Given the description of an element on the screen output the (x, y) to click on. 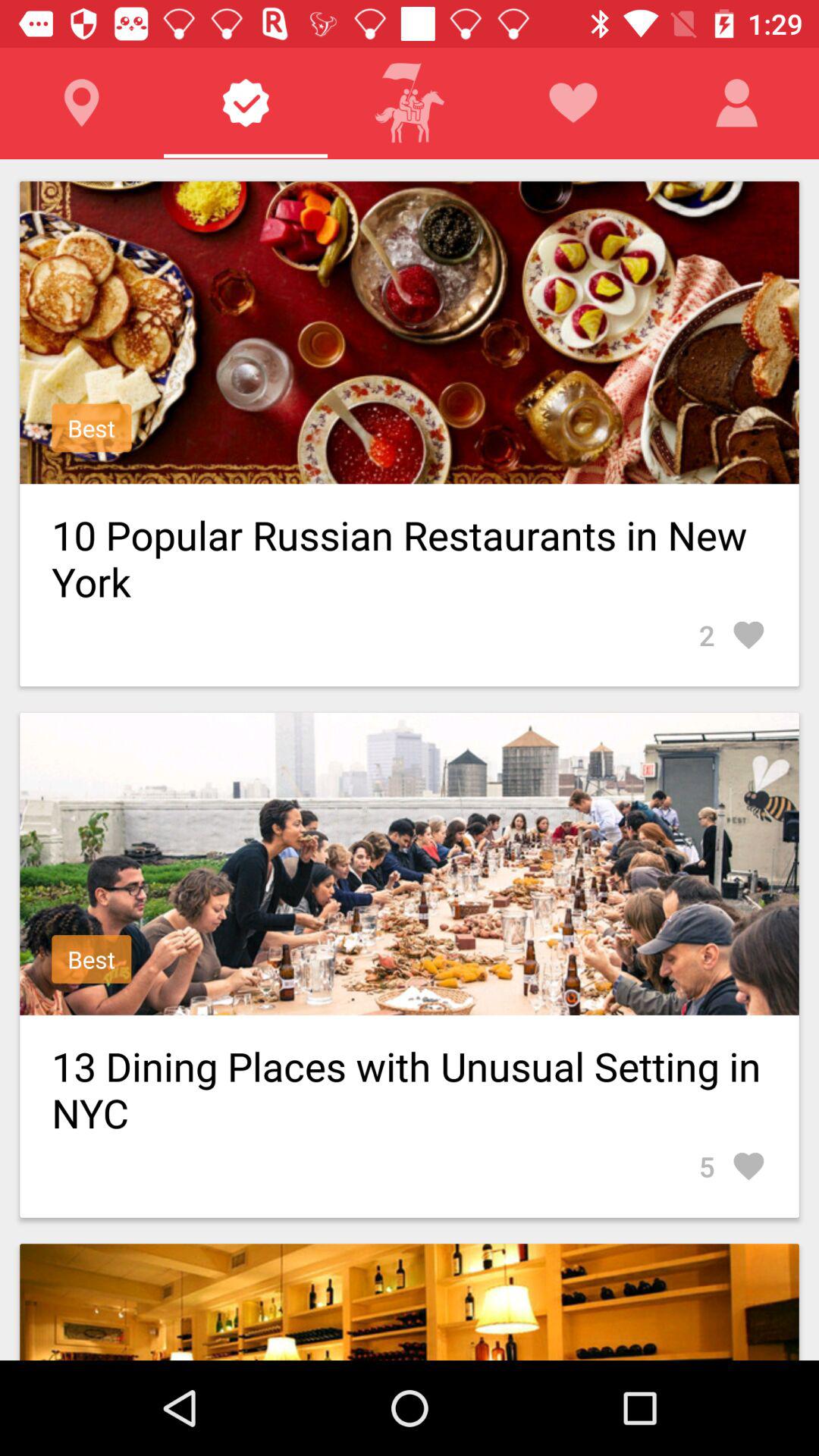
flip until the 5 item (732, 1166)
